Given the description of an element on the screen output the (x, y) to click on. 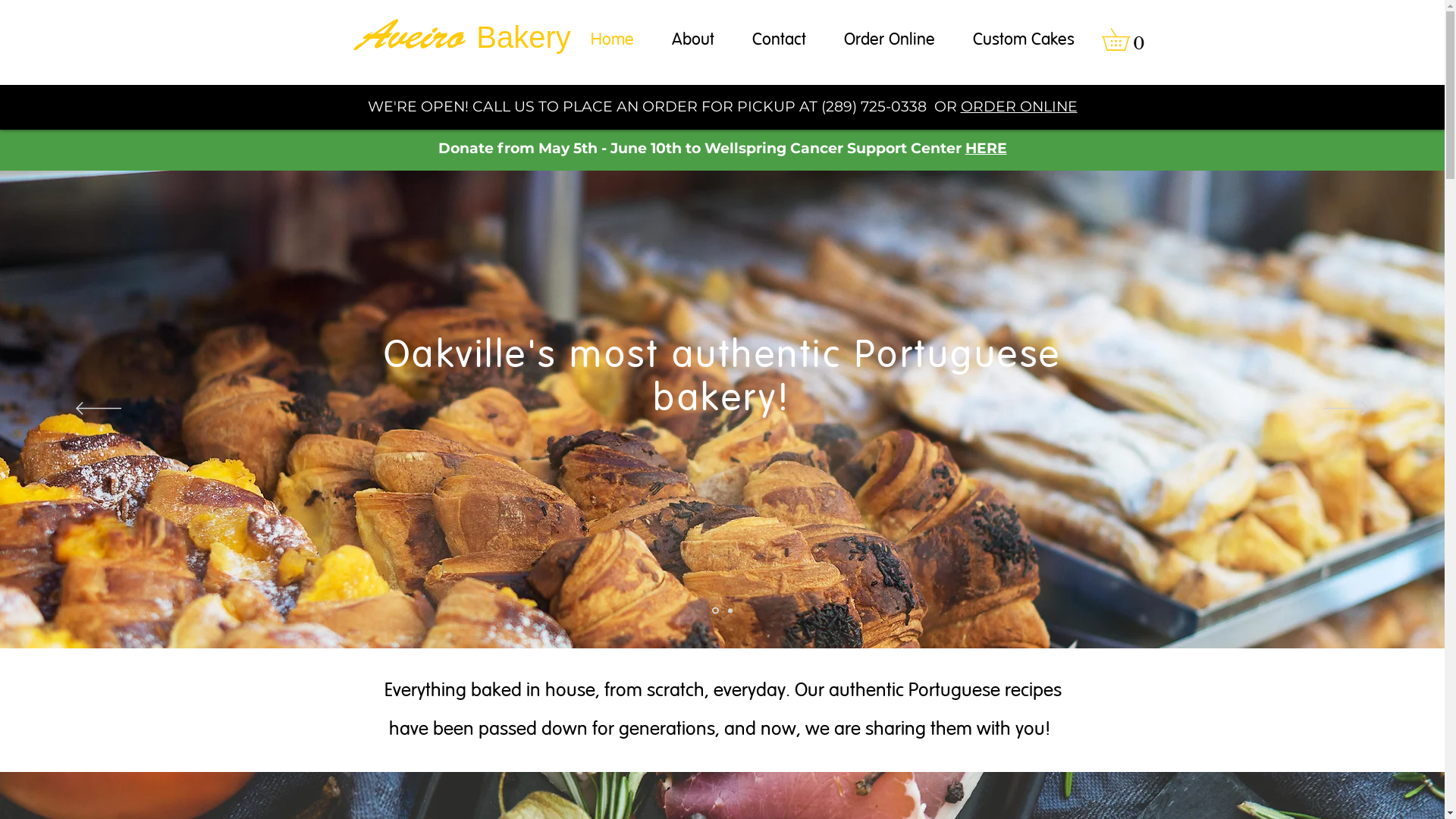
Aveiro Element type: text (410, 33)
Home Element type: text (611, 39)
Order Online Element type: text (889, 39)
About Element type: text (692, 39)
ORDER ONLINE Element type: text (1018, 106)
  Element type: text (469, 33)
Custom Cakes Element type: text (1023, 39)
 (289) 725-0338  Element type: text (873, 106)
Contact Element type: text (778, 39)
Bakery Element type: text (523, 36)
0 Element type: text (1125, 39)
